Given the description of an element on the screen output the (x, y) to click on. 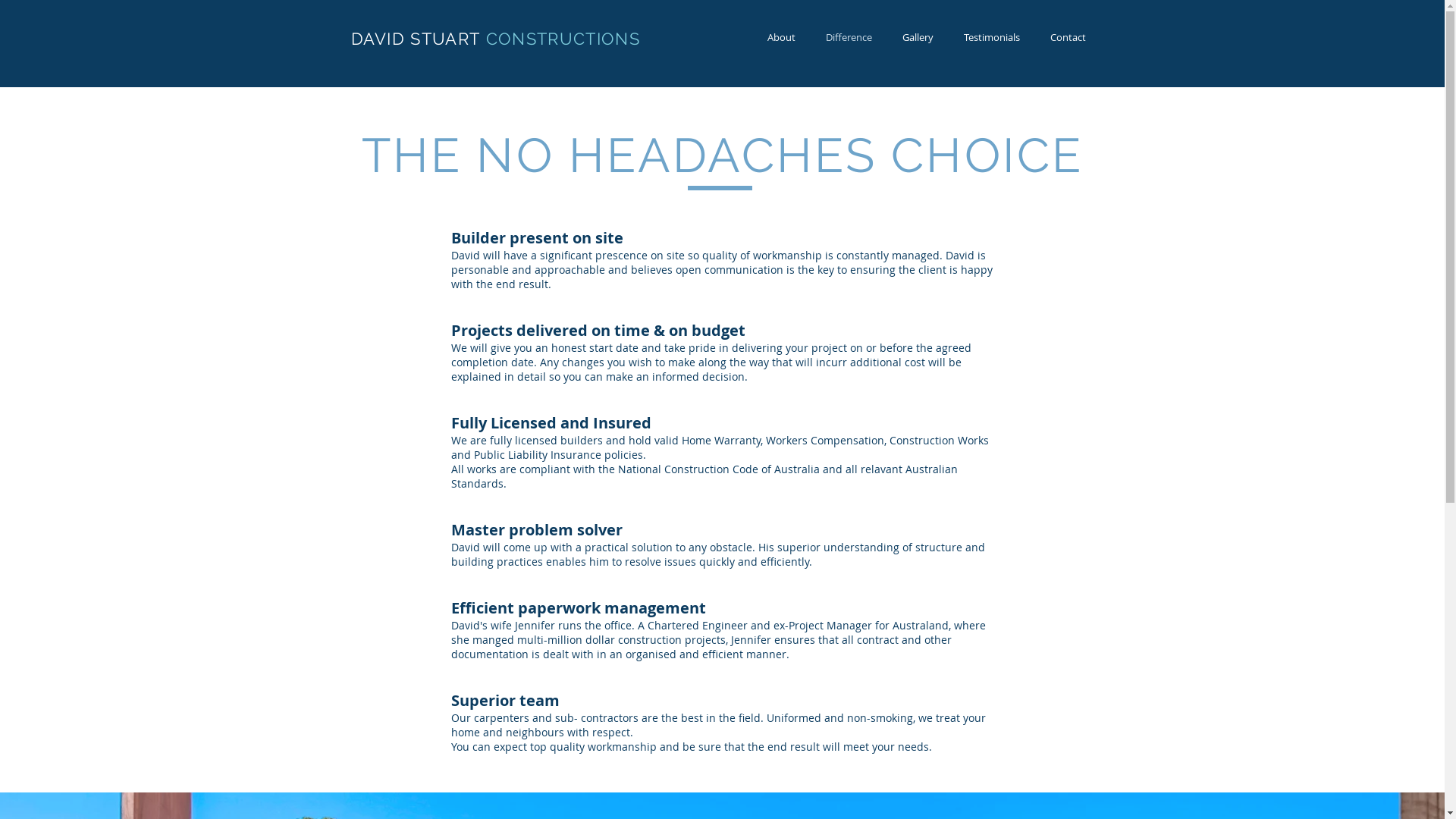
DAVID STUART CONSTRUCTIONS Element type: text (494, 38)
Difference Element type: text (847, 37)
Testimonials Element type: text (990, 37)
Contact Element type: text (1067, 37)
About Element type: text (781, 37)
Gallery Element type: text (917, 37)
